Given the description of an element on the screen output the (x, y) to click on. 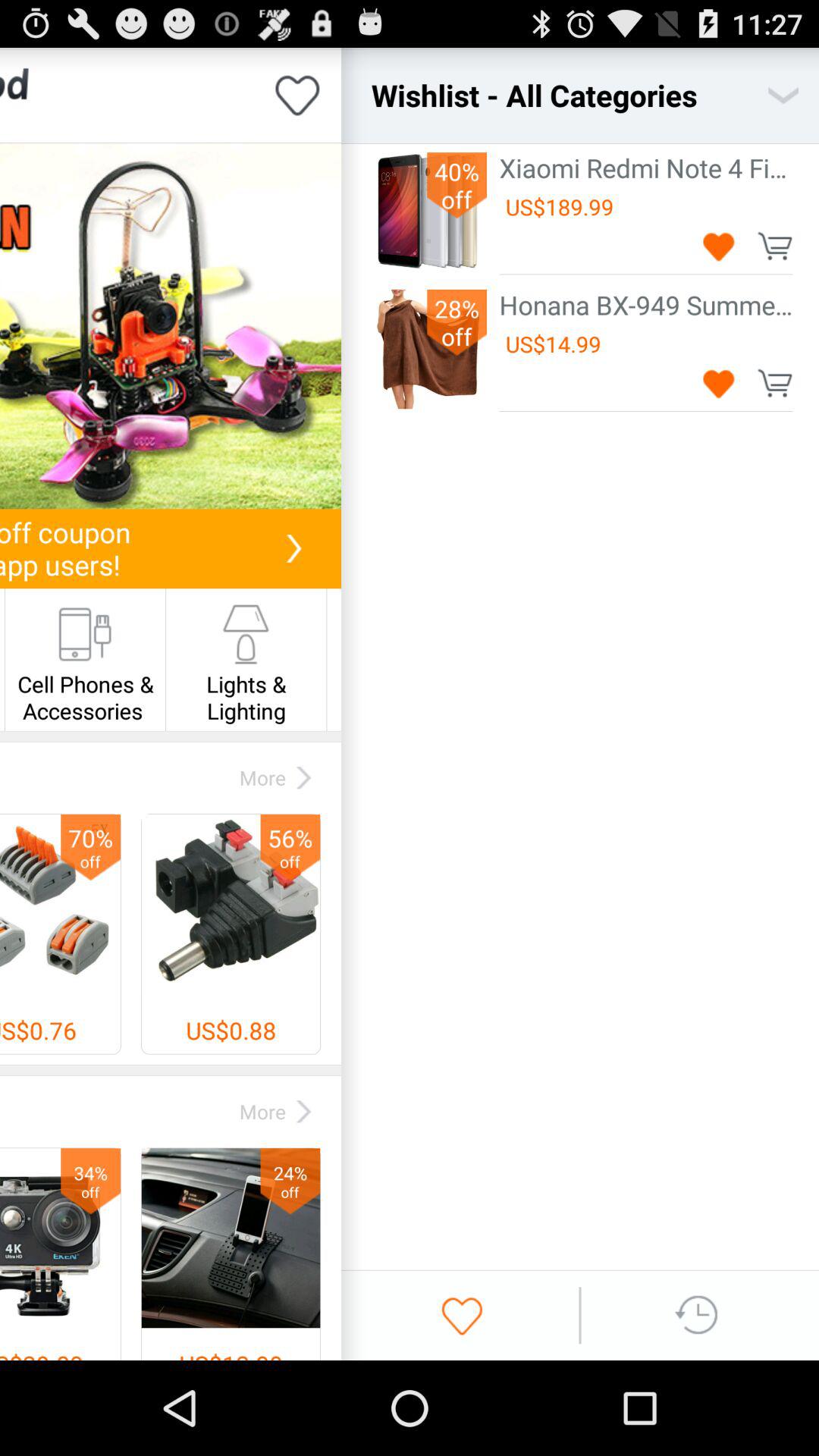
view history (697, 1315)
